Given the description of an element on the screen output the (x, y) to click on. 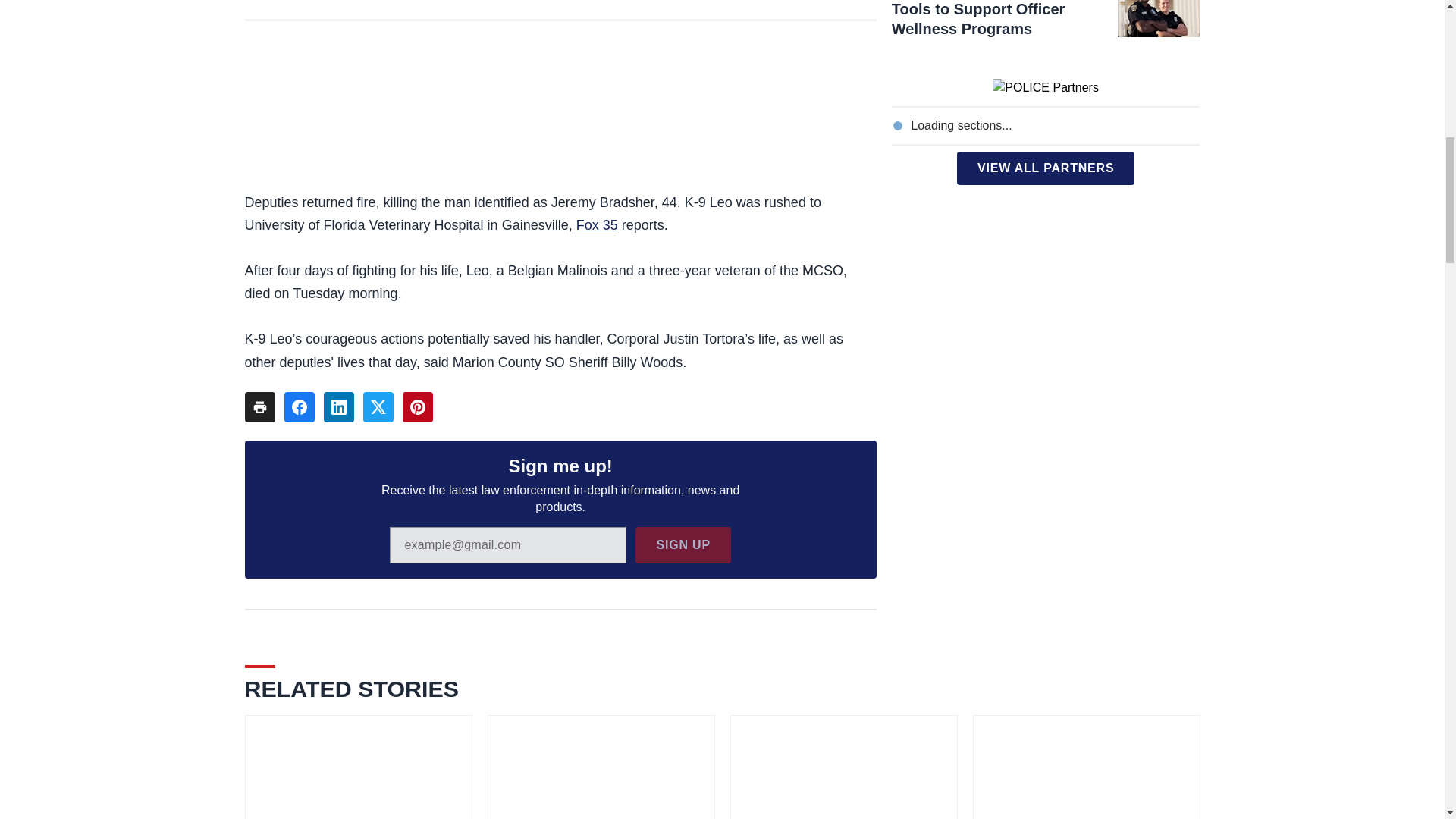
Share To linkedin (338, 407)
Share To print (259, 407)
Share To twitter (377, 407)
Share To facebook (298, 407)
Share To pinterest (416, 407)
